Given the description of an element on the screen output the (x, y) to click on. 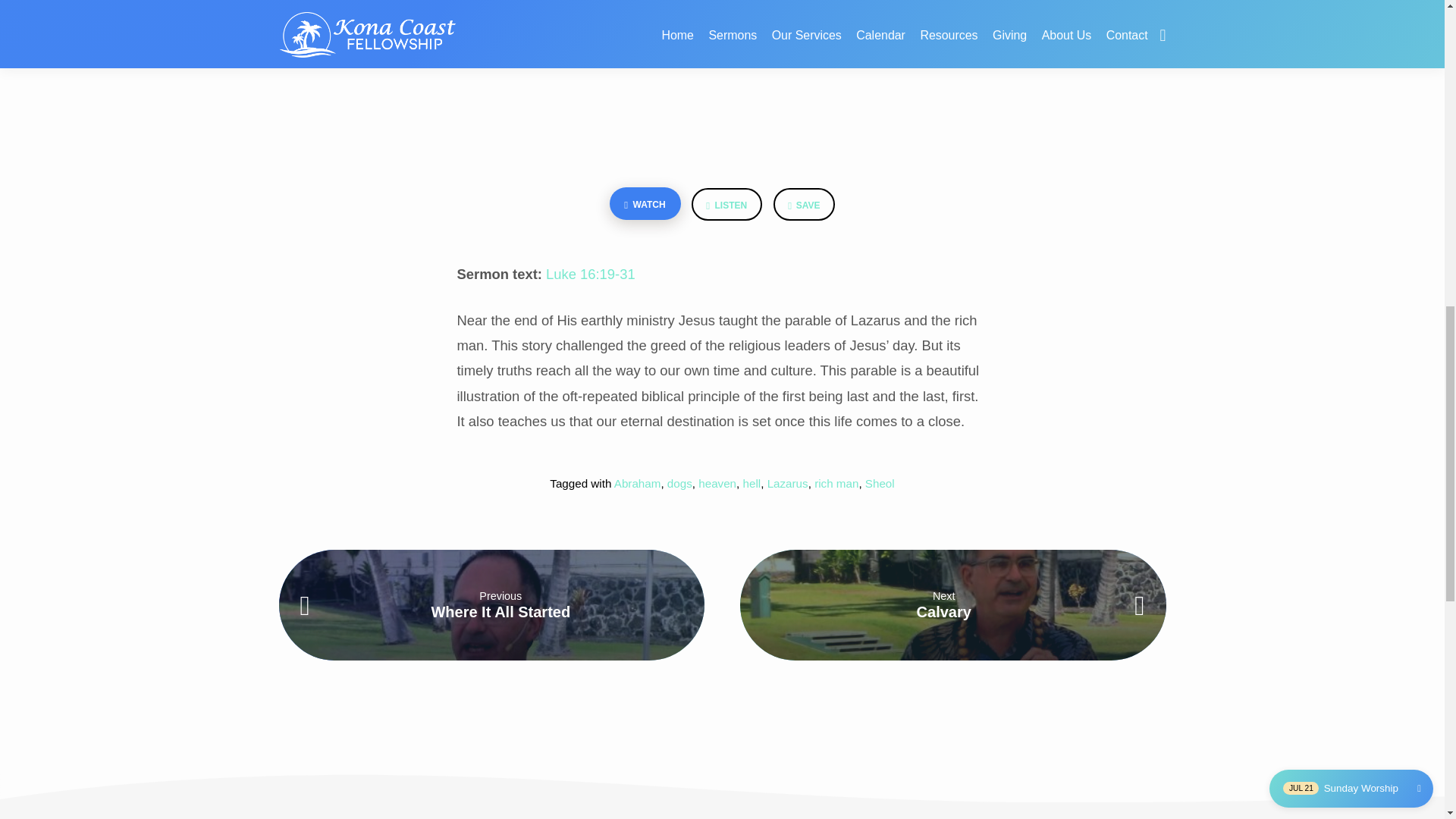
Luke 16:19-31 (590, 273)
LISTEN (726, 204)
WATCH (645, 203)
SAVE (803, 204)
